Given the description of an element on the screen output the (x, y) to click on. 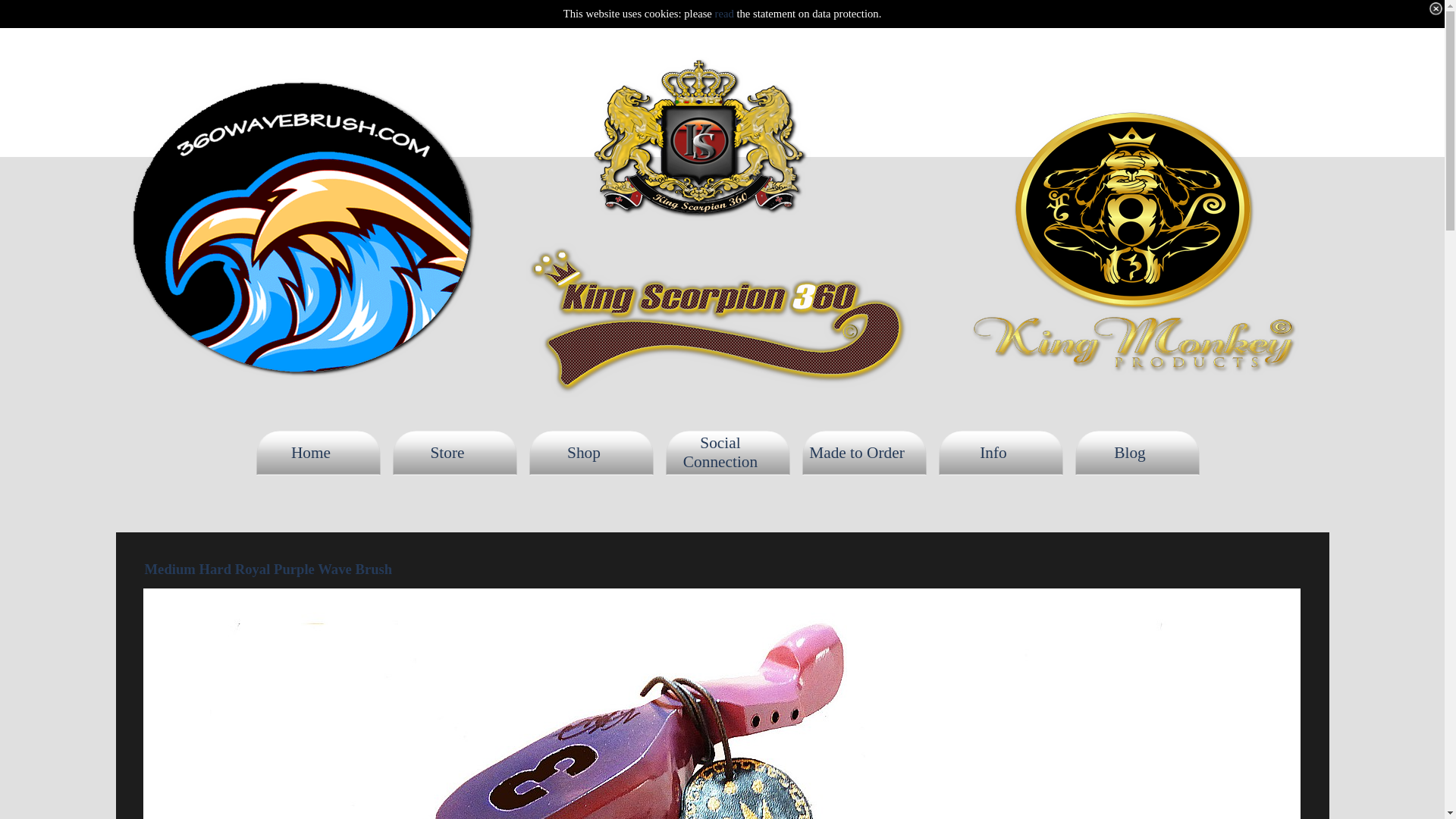
read Element type: text (726, 13)
Blog Element type: text (1137, 452)
Made to Order Element type: text (864, 452)
Store Element type: text (454, 452)
Home Element type: text (318, 452)
